Given the description of an element on the screen output the (x, y) to click on. 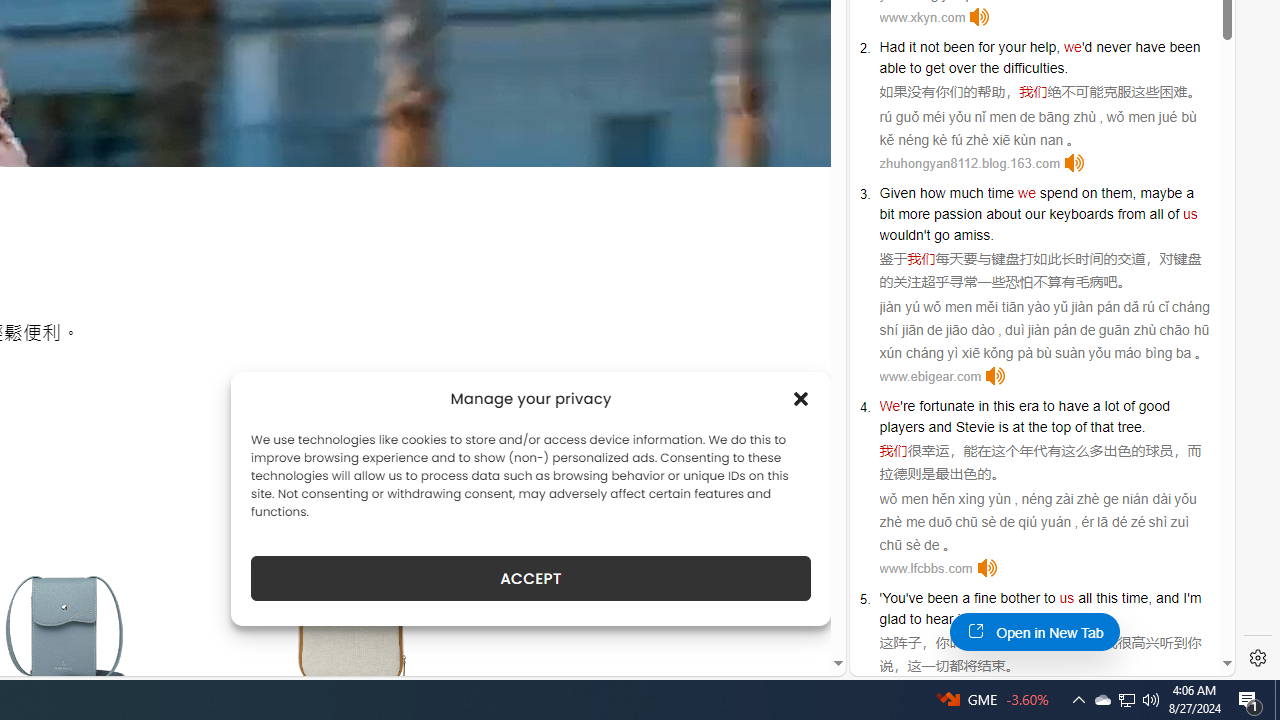
about (1003, 213)
